Given the description of an element on the screen output the (x, y) to click on. 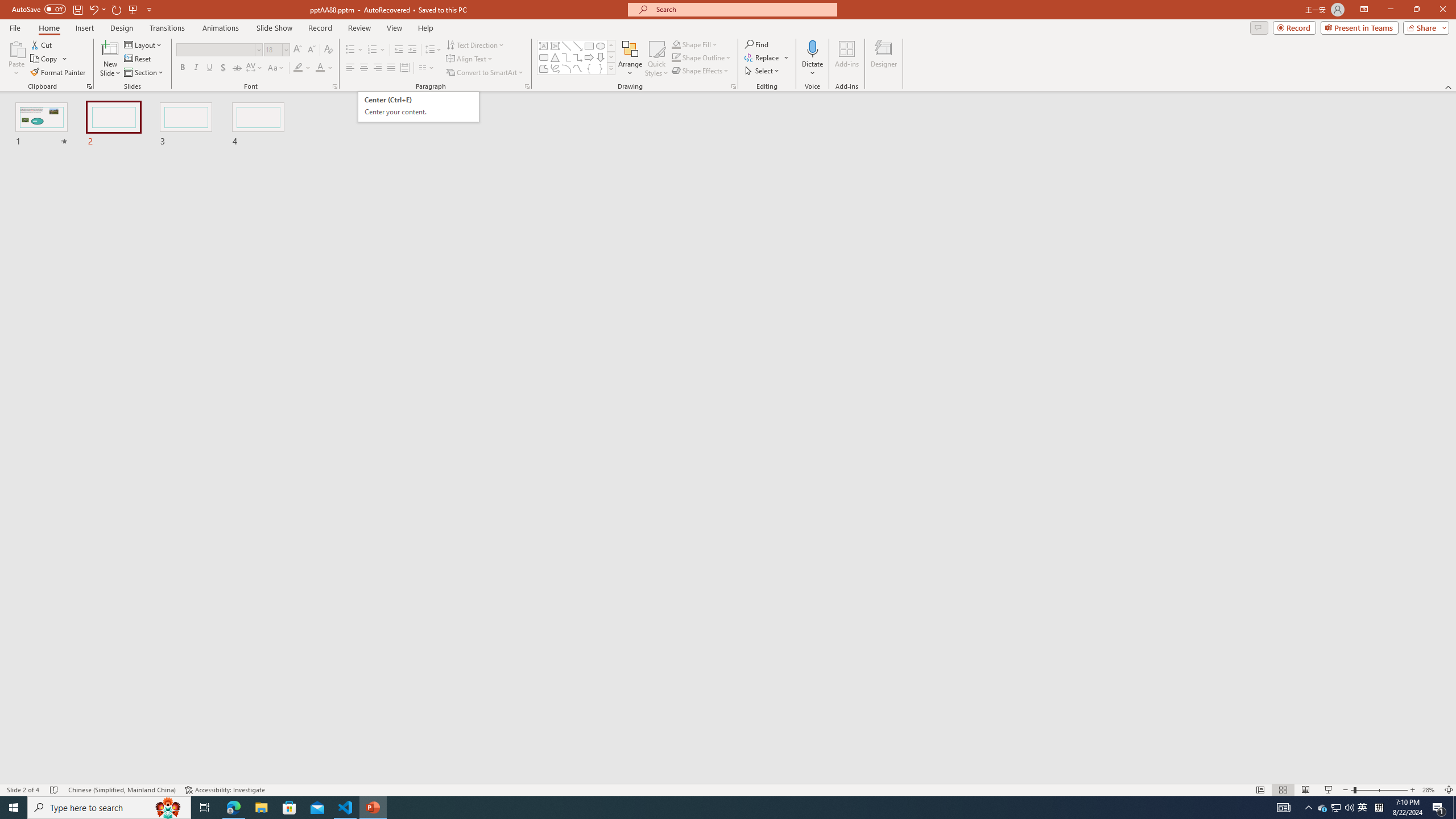
Text Highlight Color (302, 67)
Isosceles Triangle (554, 57)
Columns (426, 67)
Justify (390, 67)
Left Brace (589, 68)
Font (215, 49)
Character Spacing (254, 67)
Increase Font Size (297, 49)
Font Size (273, 49)
Freeform: Shape (543, 68)
Open (285, 49)
Font Size (276, 49)
